Given the description of an element on the screen output the (x, y) to click on. 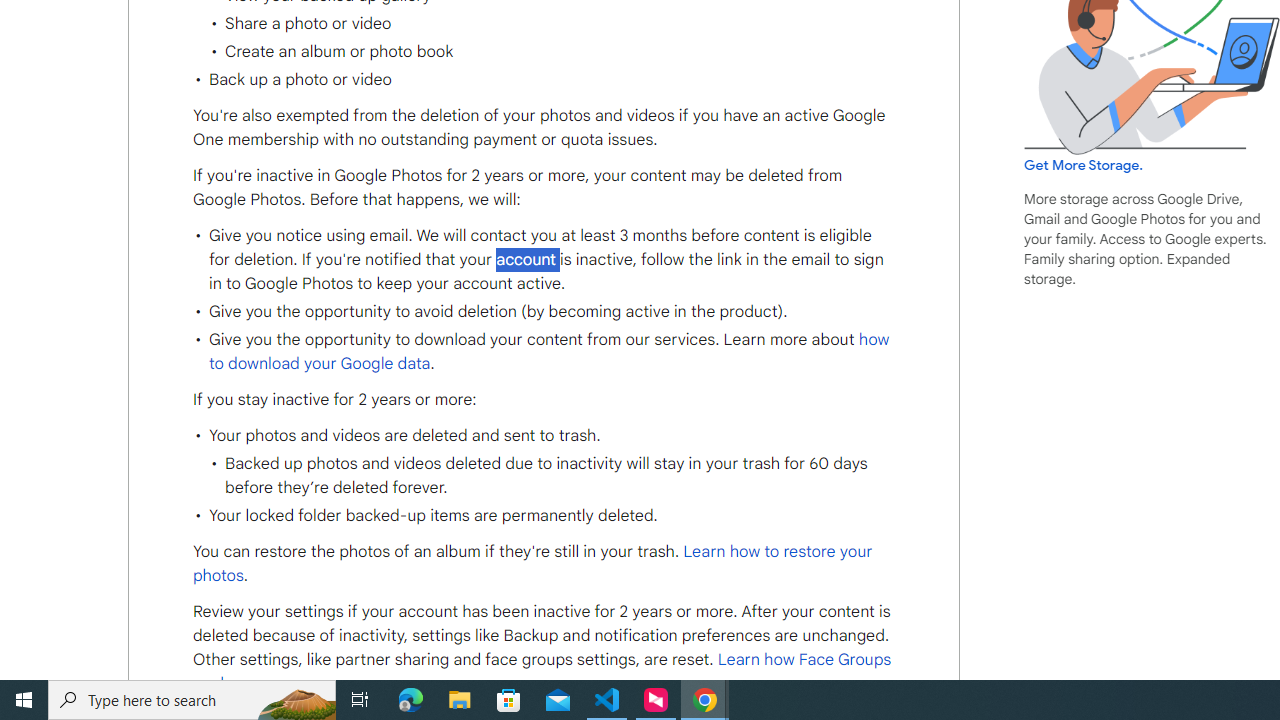
Learn how to restore your photos (532, 564)
Learn how Face Groups works (542, 672)
Get More Storage. (1083, 165)
how to download your Google data (548, 351)
